Given the description of an element on the screen output the (x, y) to click on. 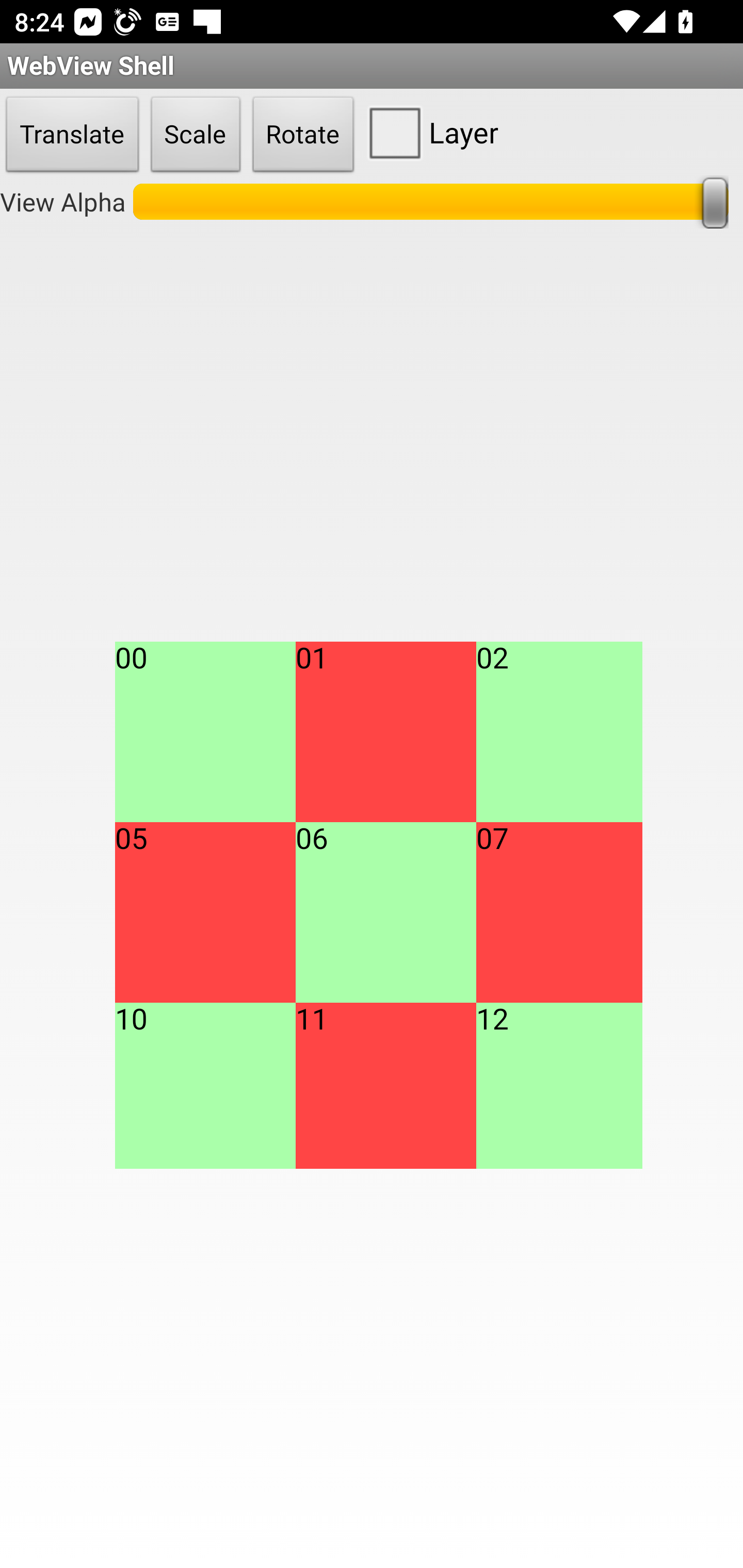
Layer (429, 132)
Translate (72, 135)
Scale (195, 135)
Rotate (303, 135)
